Given the description of an element on the screen output the (x, y) to click on. 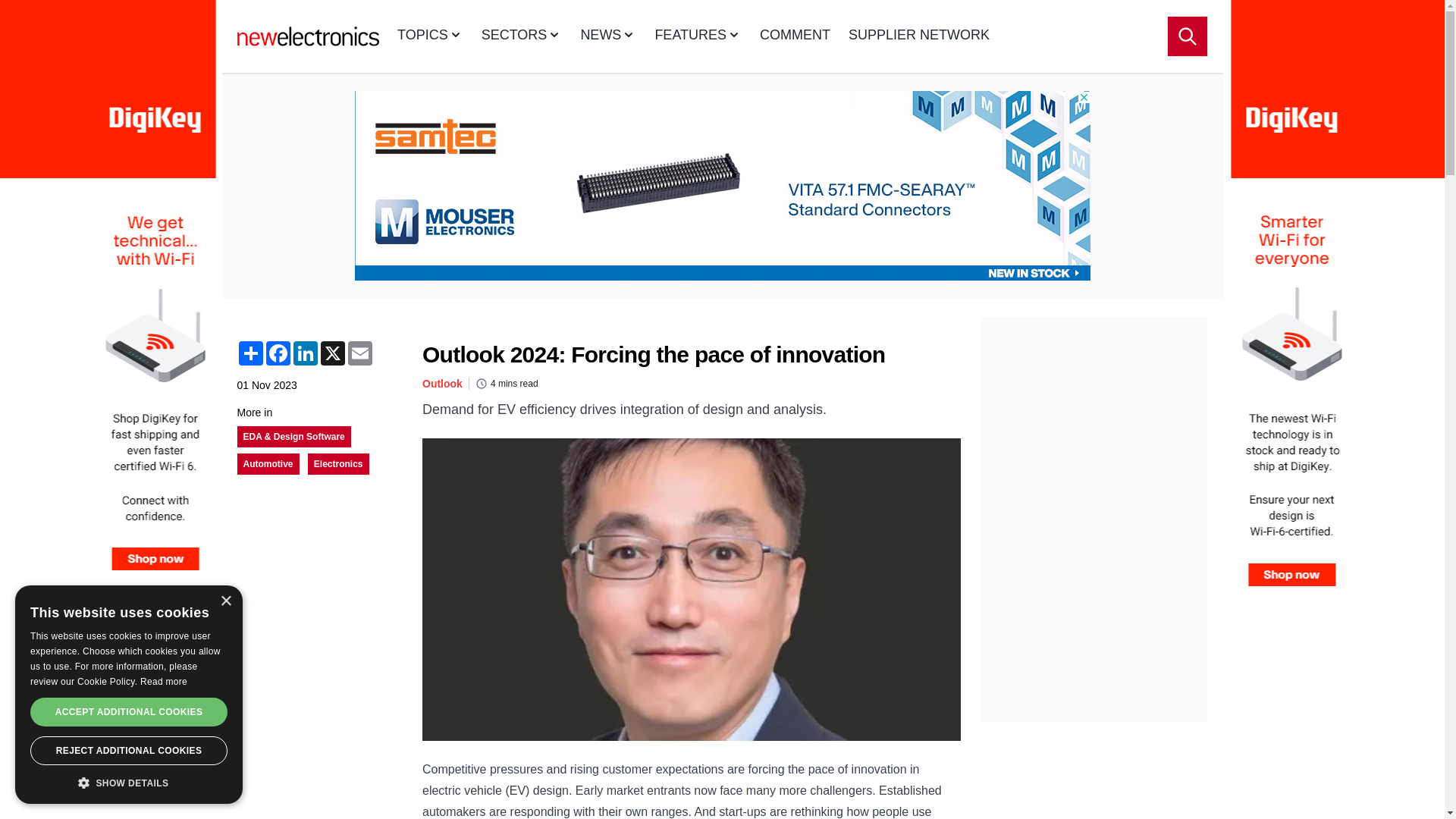
NEWS (607, 36)
TOPICS (430, 36)
3rd party ad content (1093, 411)
SECTORS (521, 36)
